Given the description of an element on the screen output the (x, y) to click on. 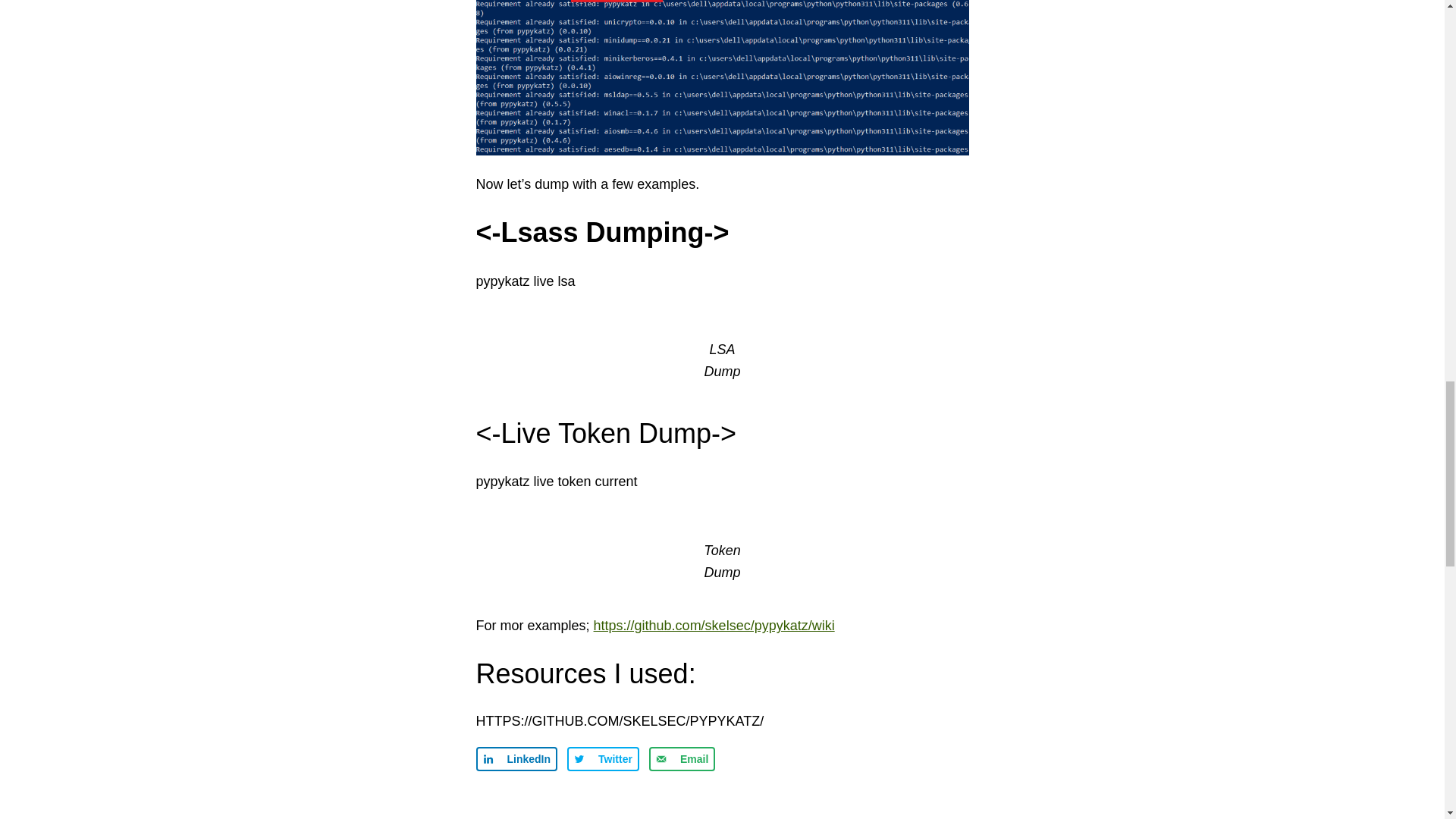
Email (681, 758)
Send over email (681, 758)
LinkedIn (516, 758)
Share on Twitter (603, 758)
Share on LinkedIn (516, 758)
Twitter (603, 758)
